Given the description of an element on the screen output the (x, y) to click on. 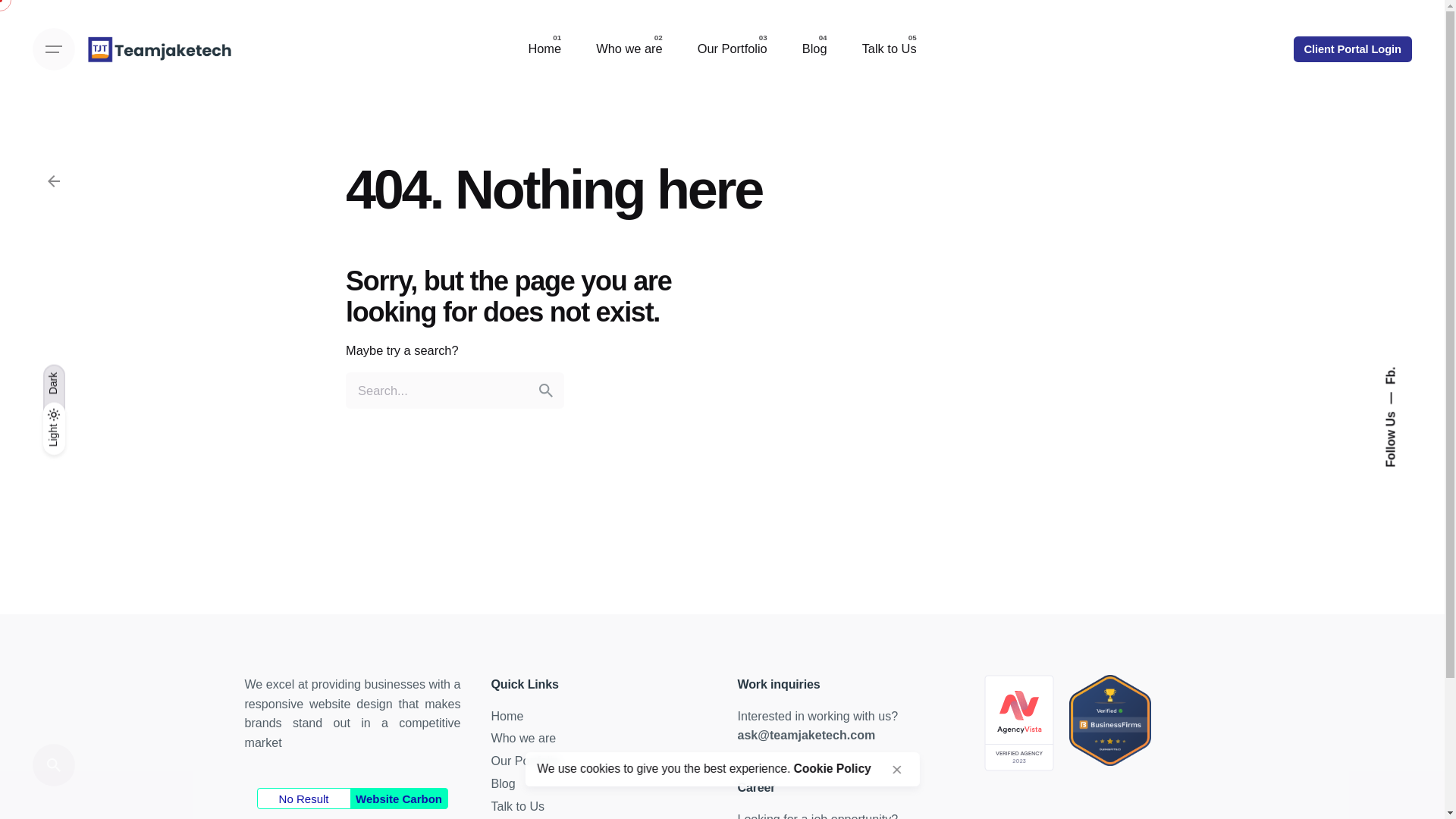
Client Portal Login (1353, 49)
Who we are (628, 49)
Website Carbon (399, 798)
Home (508, 715)
Home (544, 49)
Blog (503, 783)
Our Portfolio (525, 760)
Fb. (1392, 373)
Blog (814, 49)
Talk to Us (889, 49)
Talk to Us (518, 806)
Our Portfolio (731, 49)
Who we are (524, 737)
